Given the description of an element on the screen output the (x, y) to click on. 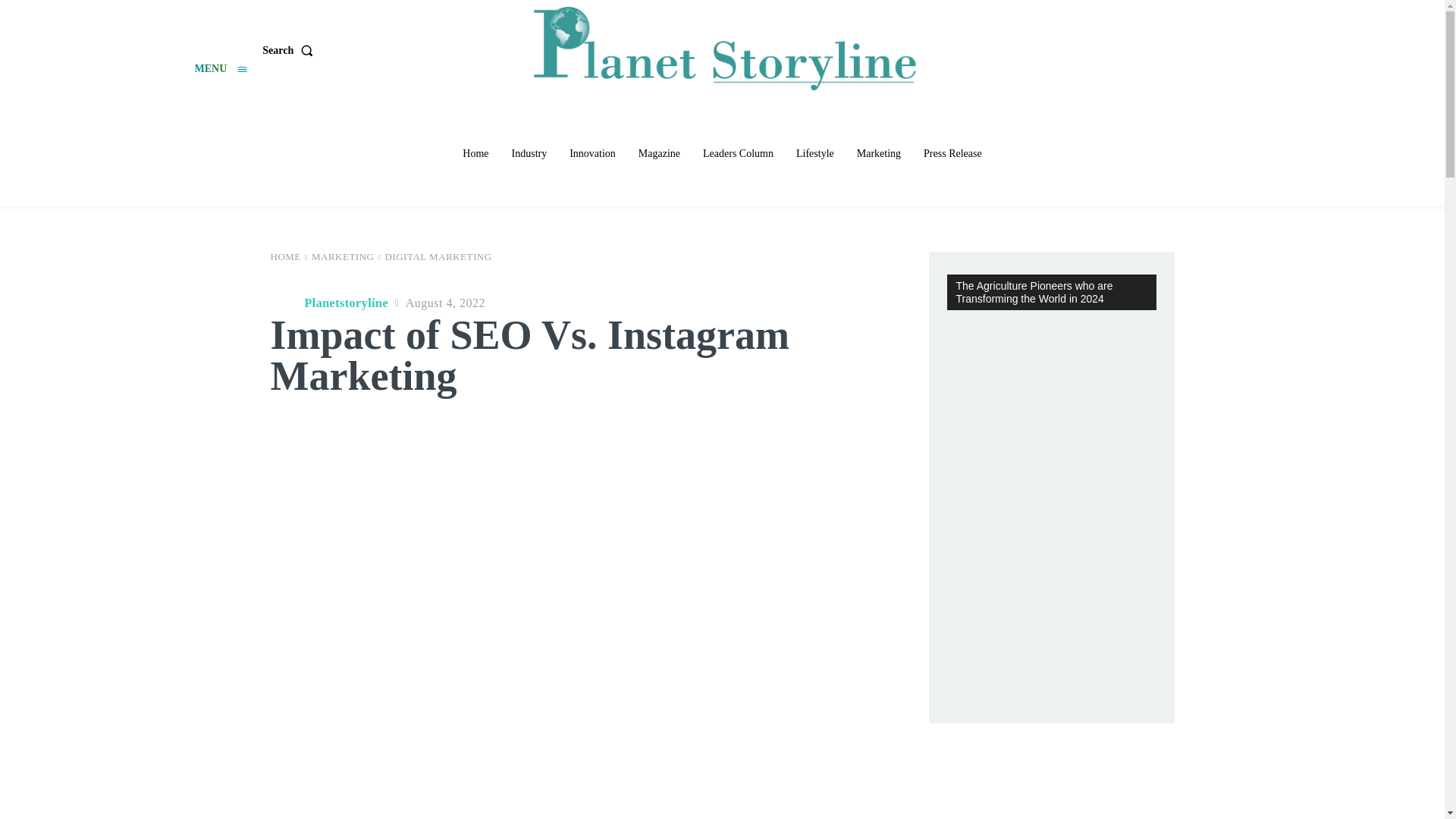
Industry (528, 153)
View all posts in Marketing (342, 256)
MENU (220, 69)
planetstoryline (284, 302)
Menu (220, 69)
Search (290, 50)
View all posts in Digital Marketing (438, 256)
Home (475, 153)
